Given the description of an element on the screen output the (x, y) to click on. 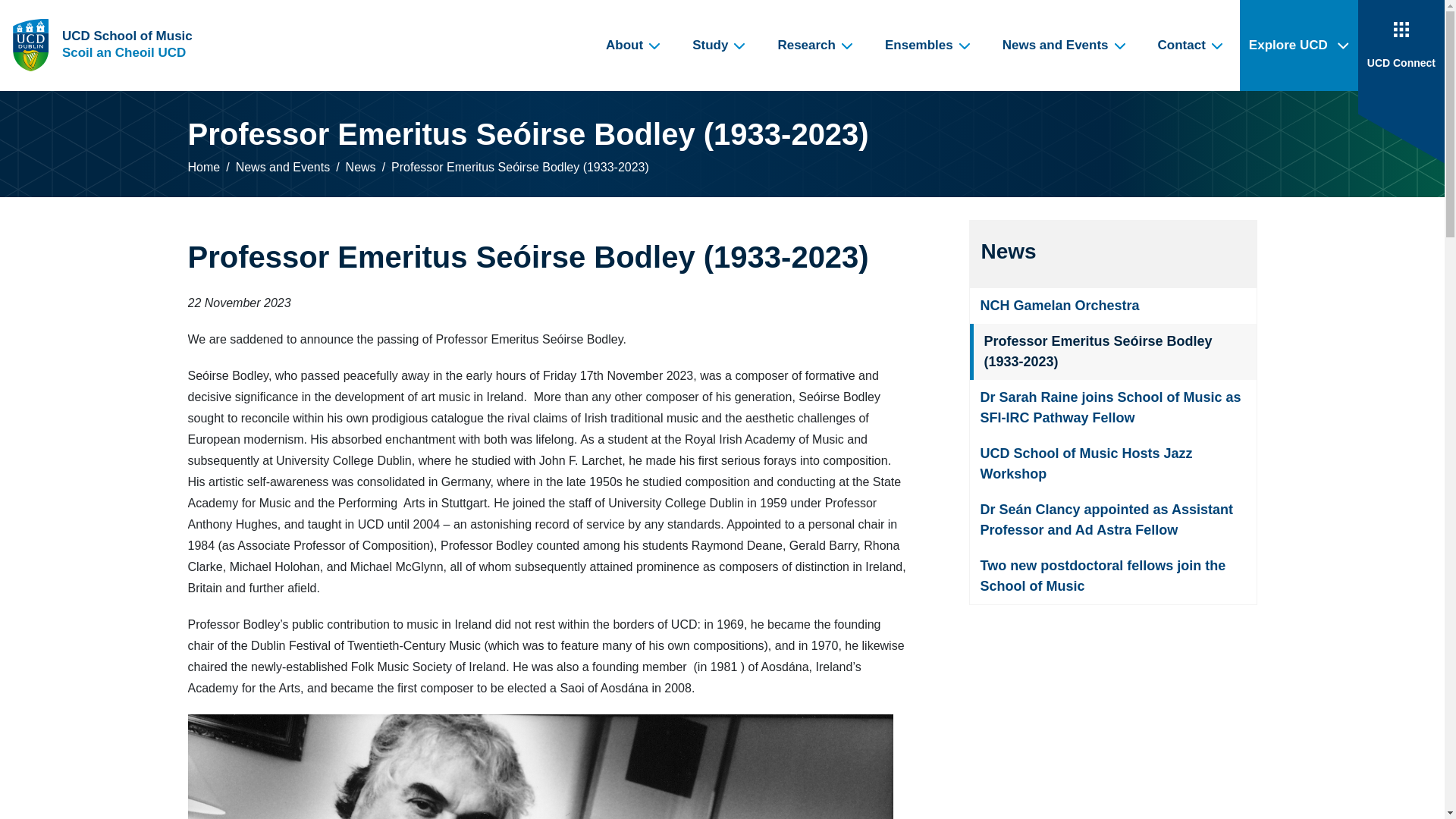
Study (105, 45)
Contact (719, 45)
News and Events (1191, 45)
Go to 'Explore' page (1064, 45)
Ensembles (1299, 45)
Go to 'Home' page (928, 45)
About (105, 45)
Research (634, 45)
